Given the description of an element on the screen output the (x, y) to click on. 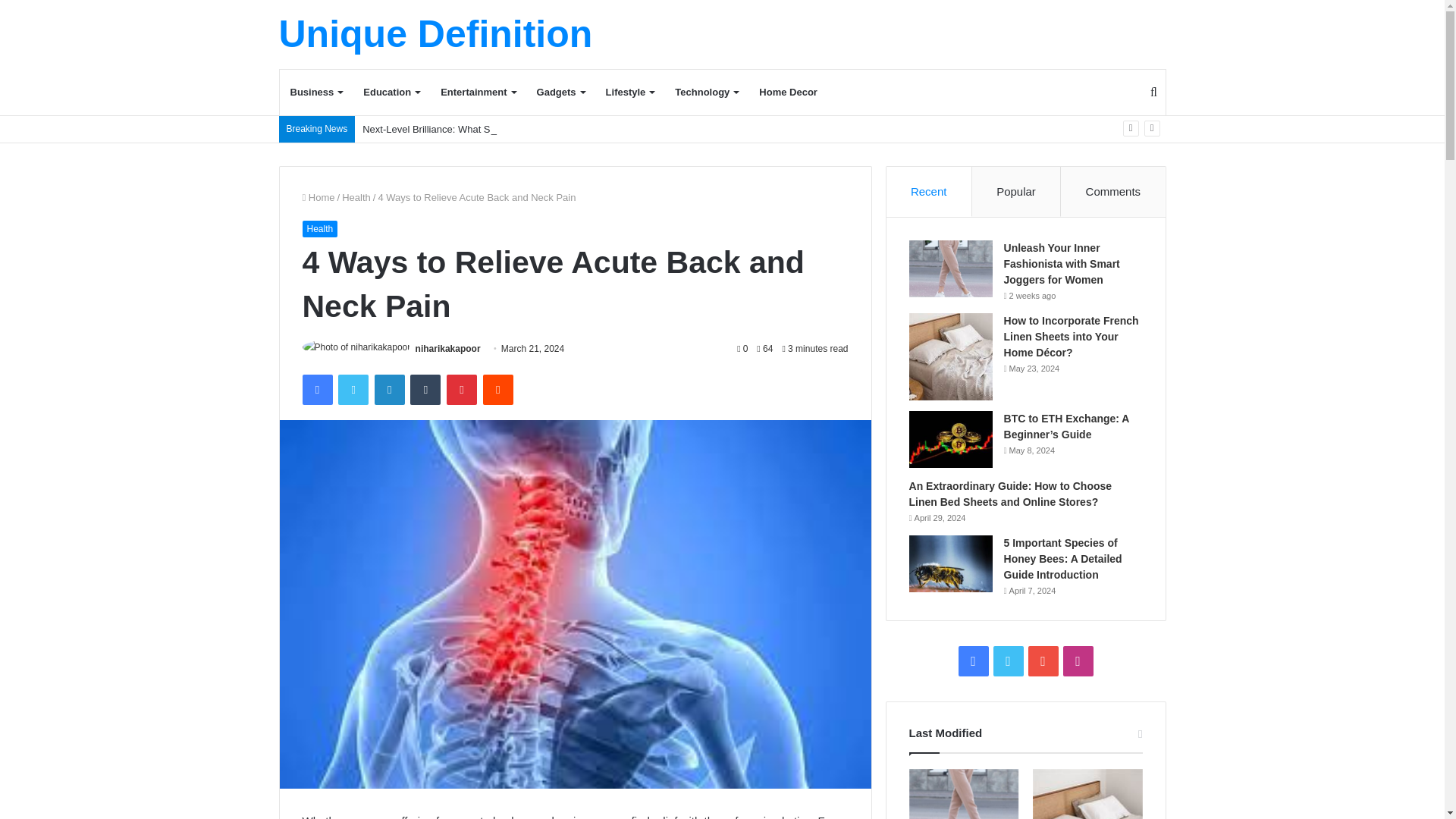
Health (356, 197)
Education (390, 92)
Unique Definition (435, 34)
LinkedIn (389, 389)
Pinterest (461, 389)
Twitter (352, 389)
niharikakapoor (447, 348)
Gadgets (560, 92)
Technology (705, 92)
Home Decor (788, 92)
niharikakapoor (447, 348)
Business (315, 92)
Lifestyle (630, 92)
LinkedIn (389, 389)
Twitter (352, 389)
